Given the description of an element on the screen output the (x, y) to click on. 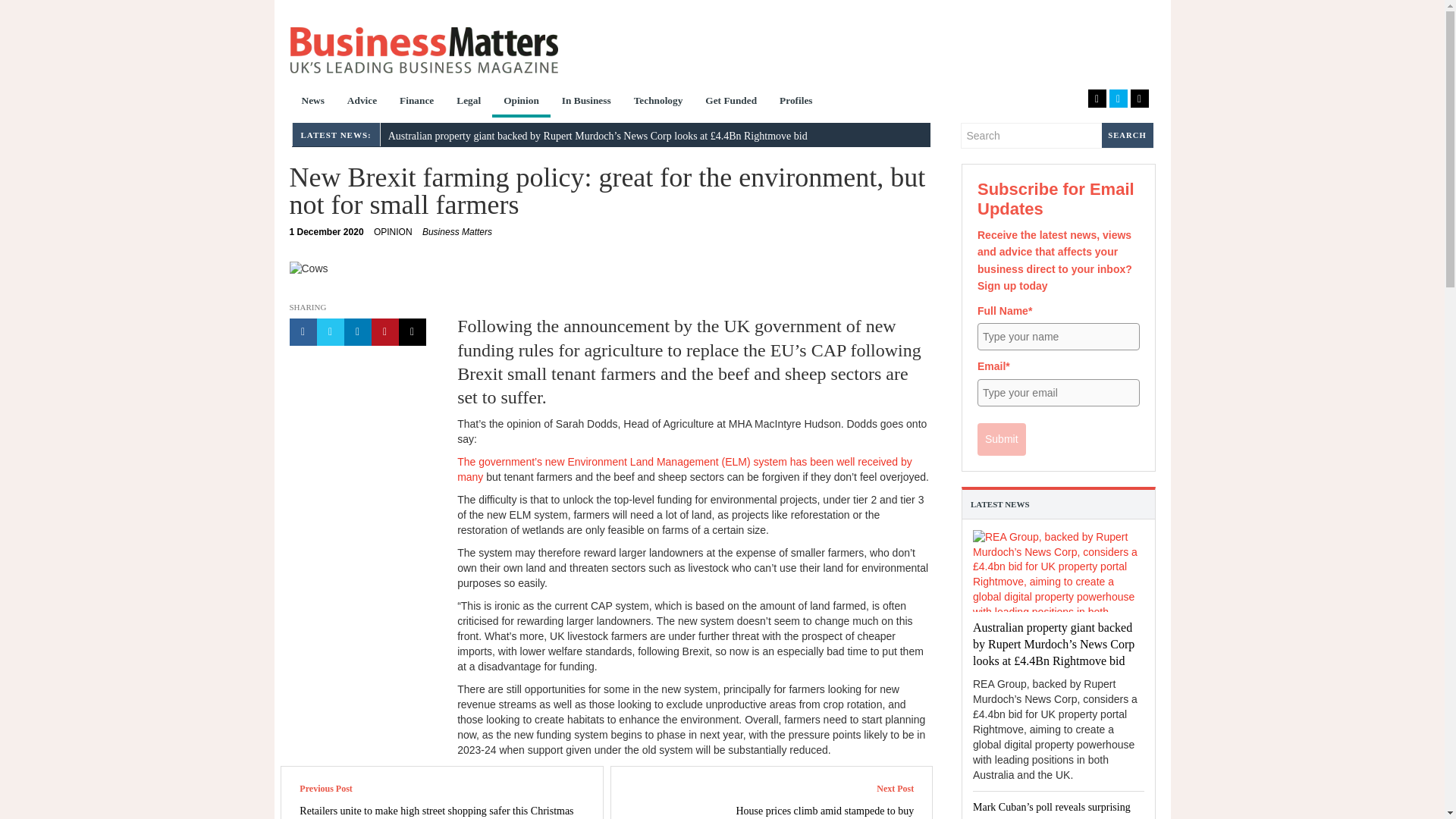
Business Matters (326, 231)
OPINION (457, 231)
Finance (393, 231)
Profiles (416, 101)
Advice (796, 101)
Business Matters (362, 101)
Get Funded (423, 50)
House prices climb amid stampede to buy (731, 101)
